Given the description of an element on the screen output the (x, y) to click on. 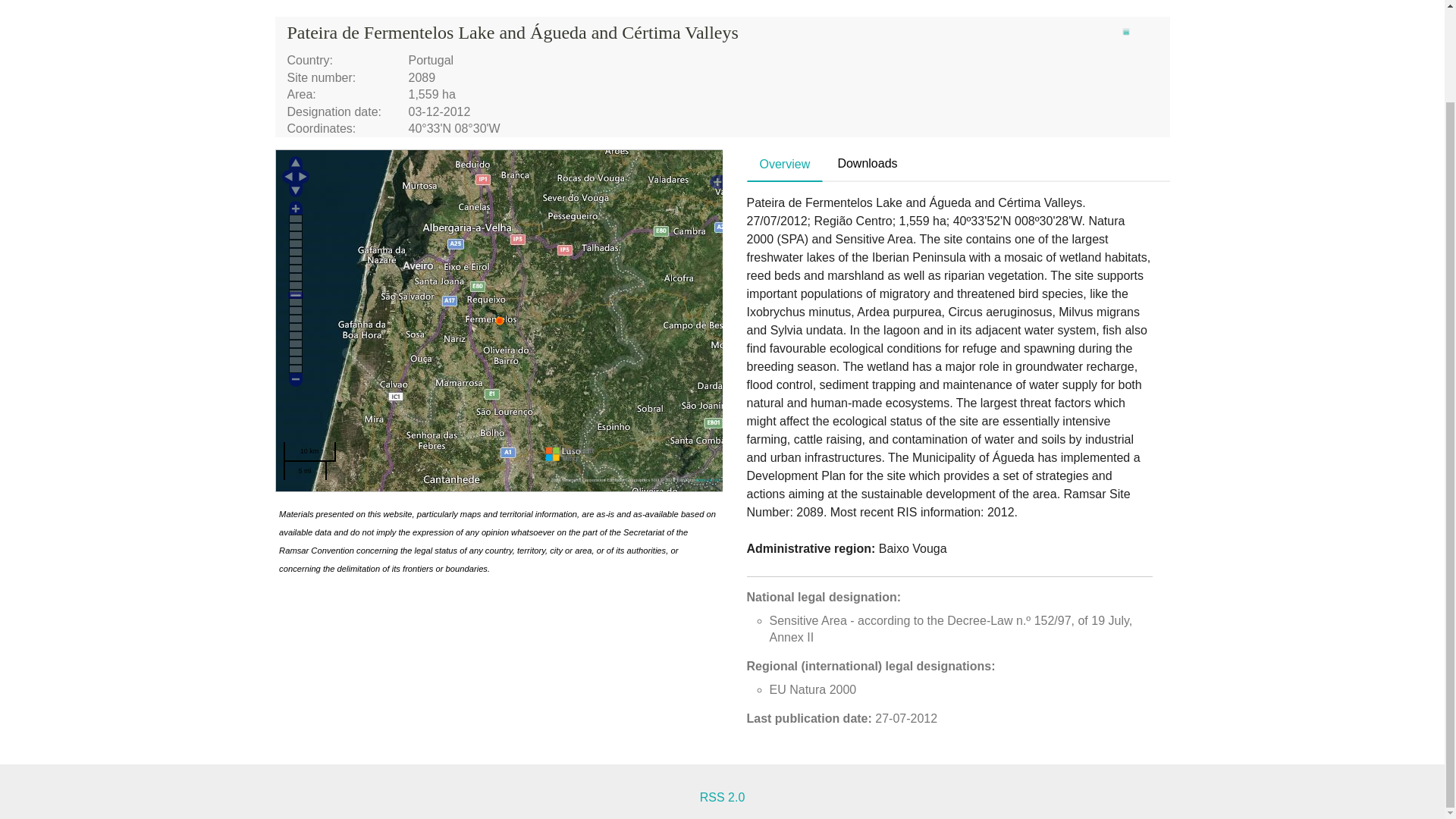
RSS 2.0 (722, 797)
Ramsar logo (1125, 31)
Overview (785, 164)
Terms of Use (707, 479)
Downloads (866, 163)
